Given the description of an element on the screen output the (x, y) to click on. 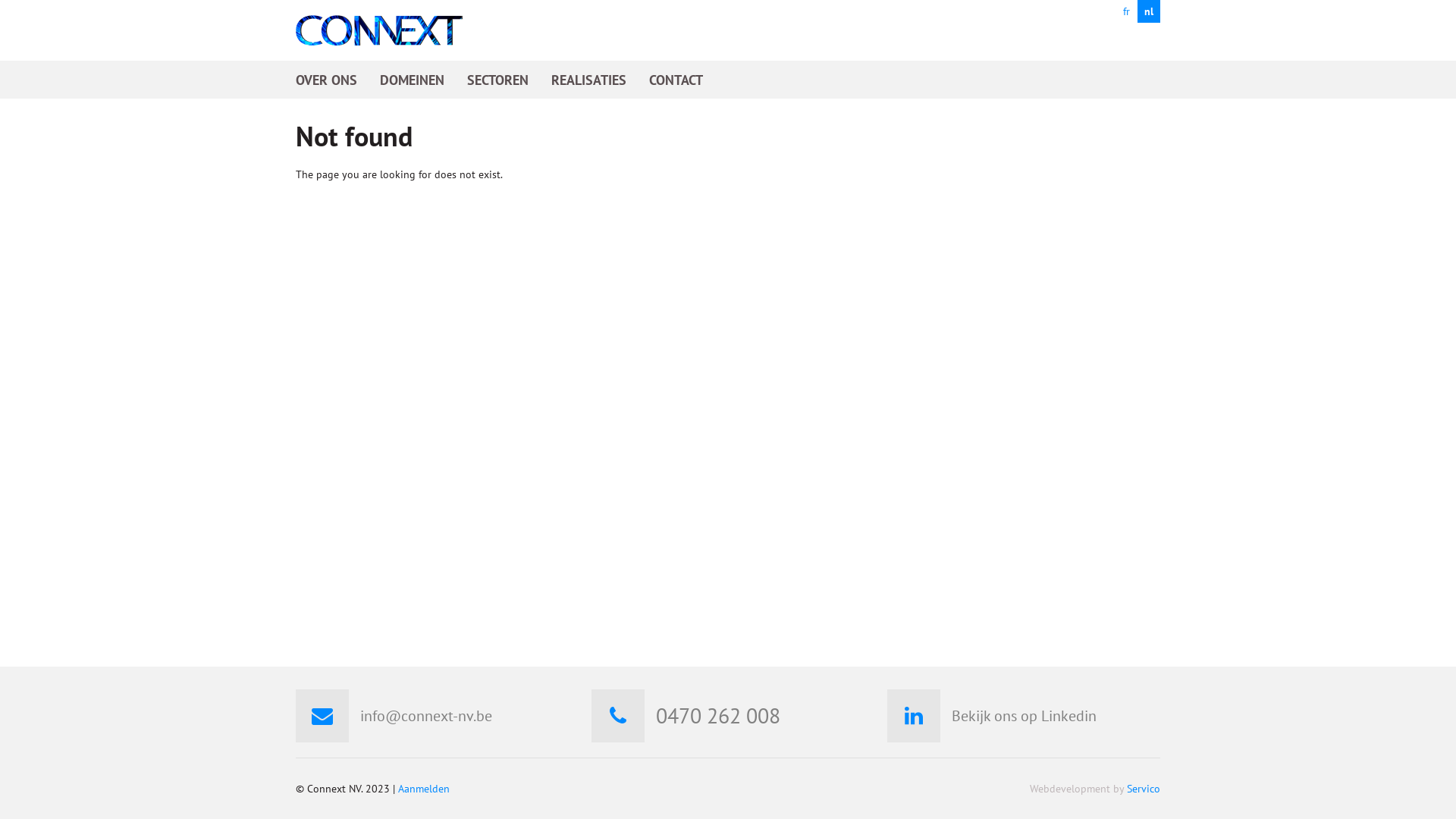
0470 262 008 Element type: text (717, 715)
DOMEINEN Element type: text (411, 79)
Bekijk ons op Linkedin Element type: text (1023, 715)
Aanmelden Element type: text (423, 788)
CONTACT Element type: text (675, 79)
nl Element type: text (1148, 11)
REALISATIES Element type: text (588, 79)
SECTOREN Element type: text (497, 79)
Servico Element type: text (1143, 788)
fr Element type: text (1125, 11)
info@connext-nv.be Element type: text (426, 715)
OVER ONS Element type: text (326, 79)
